Given the description of an element on the screen output the (x, y) to click on. 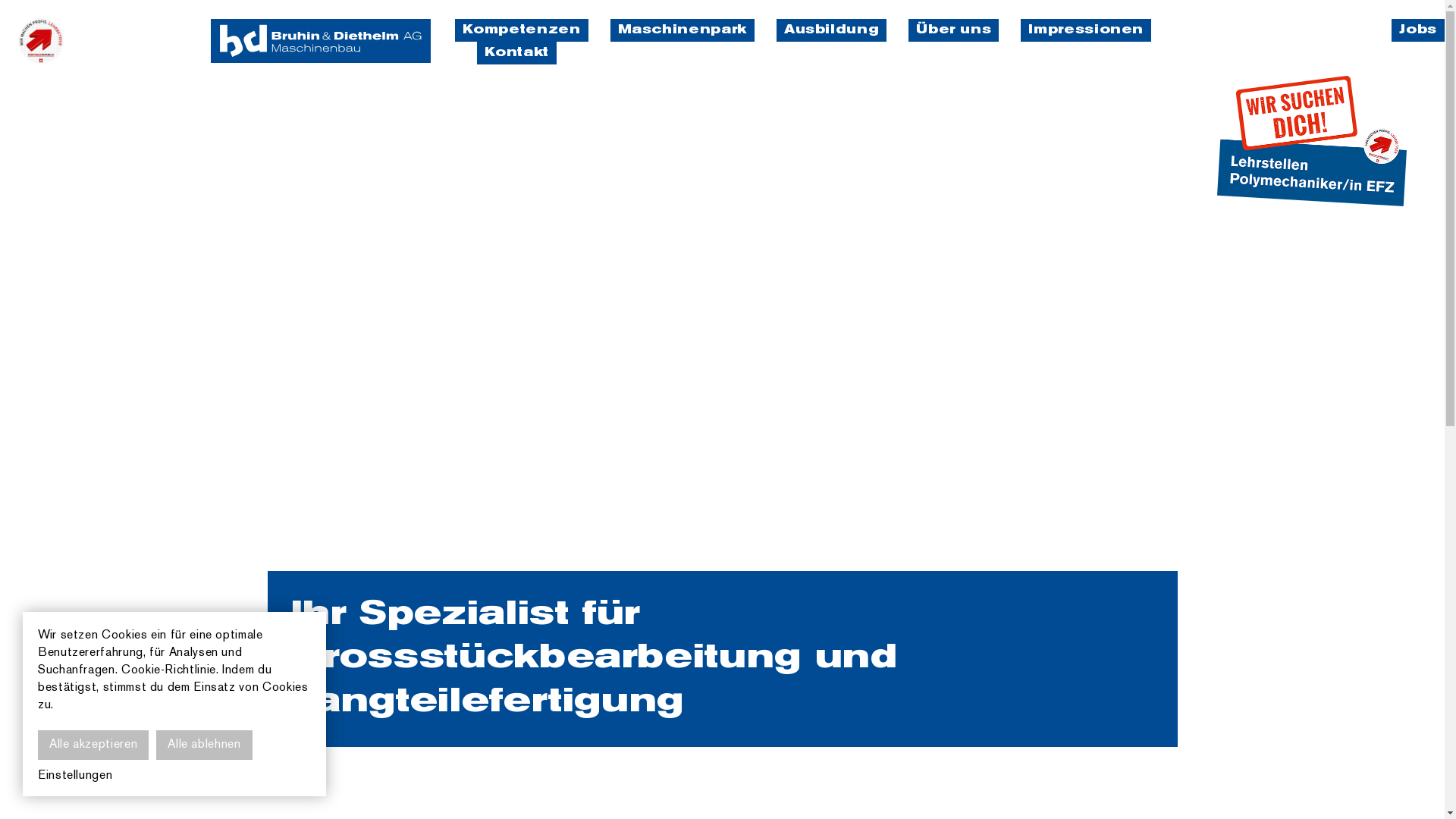
bruhin & diethelm Element type: hover (320, 41)
Einstellungen Element type: text (74, 775)
Maschinenpark Element type: text (682, 29)
Kompetenzen Element type: text (521, 29)
Alle ablehnen Element type: text (203, 744)
berufsbildungplus Element type: hover (40, 41)
Ausbildung Element type: text (831, 29)
Impressionen Element type: text (1085, 29)
Jobs Element type: text (1417, 29)
Alle akzeptieren Element type: text (92, 744)
Kontakt Element type: text (515, 52)
